Given the description of an element on the screen output the (x, y) to click on. 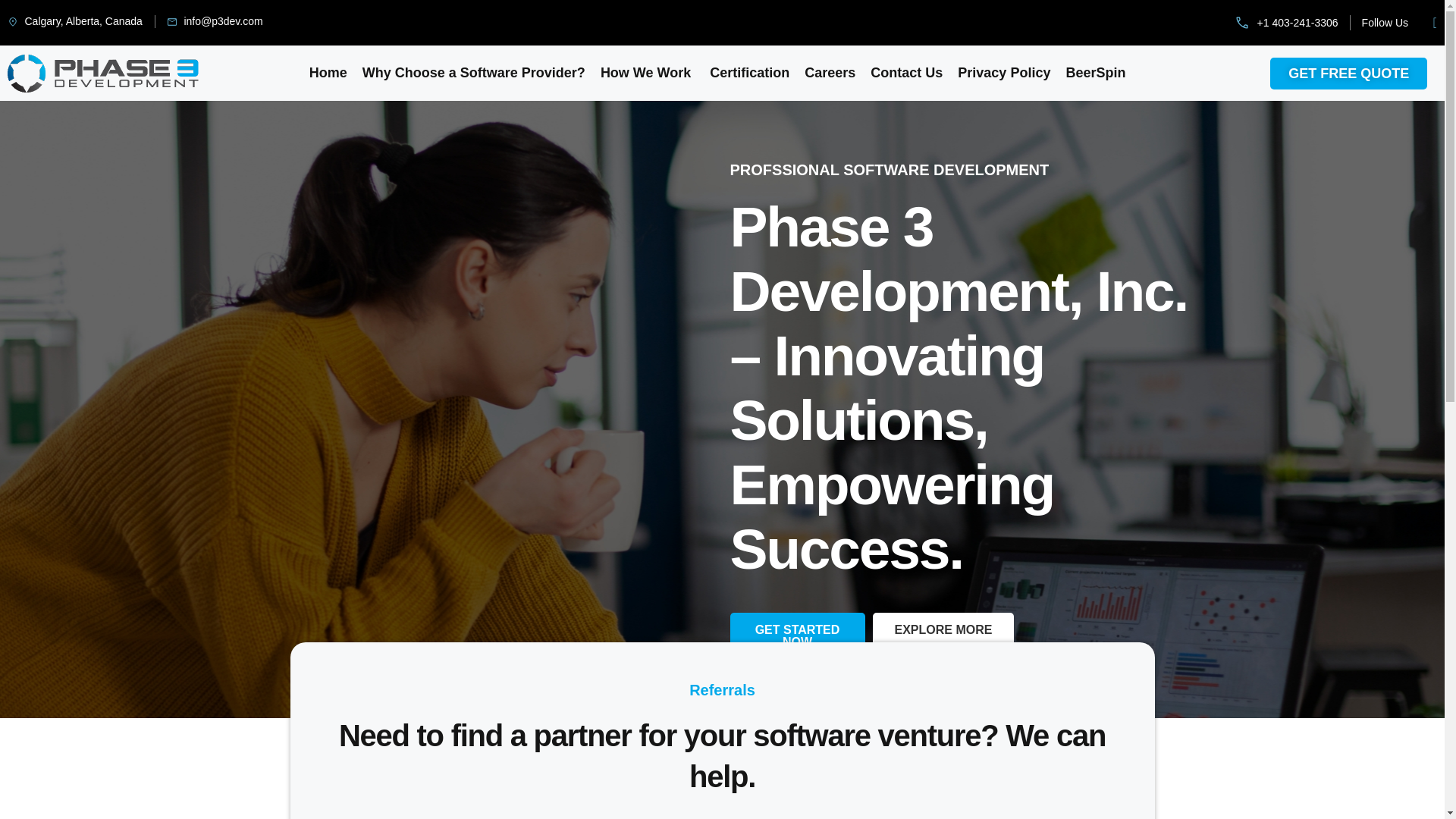
BeerSpin (1095, 73)
Privacy Policy (1004, 73)
EXPLORE MORE (942, 629)
 Certification (747, 73)
GET FREE QUOTE (1347, 73)
Contact Us (906, 73)
How We Work (645, 73)
Why Choose a Software Provider? (473, 73)
Home (328, 73)
GET STARTED NOW (796, 636)
